Given the description of an element on the screen output the (x, y) to click on. 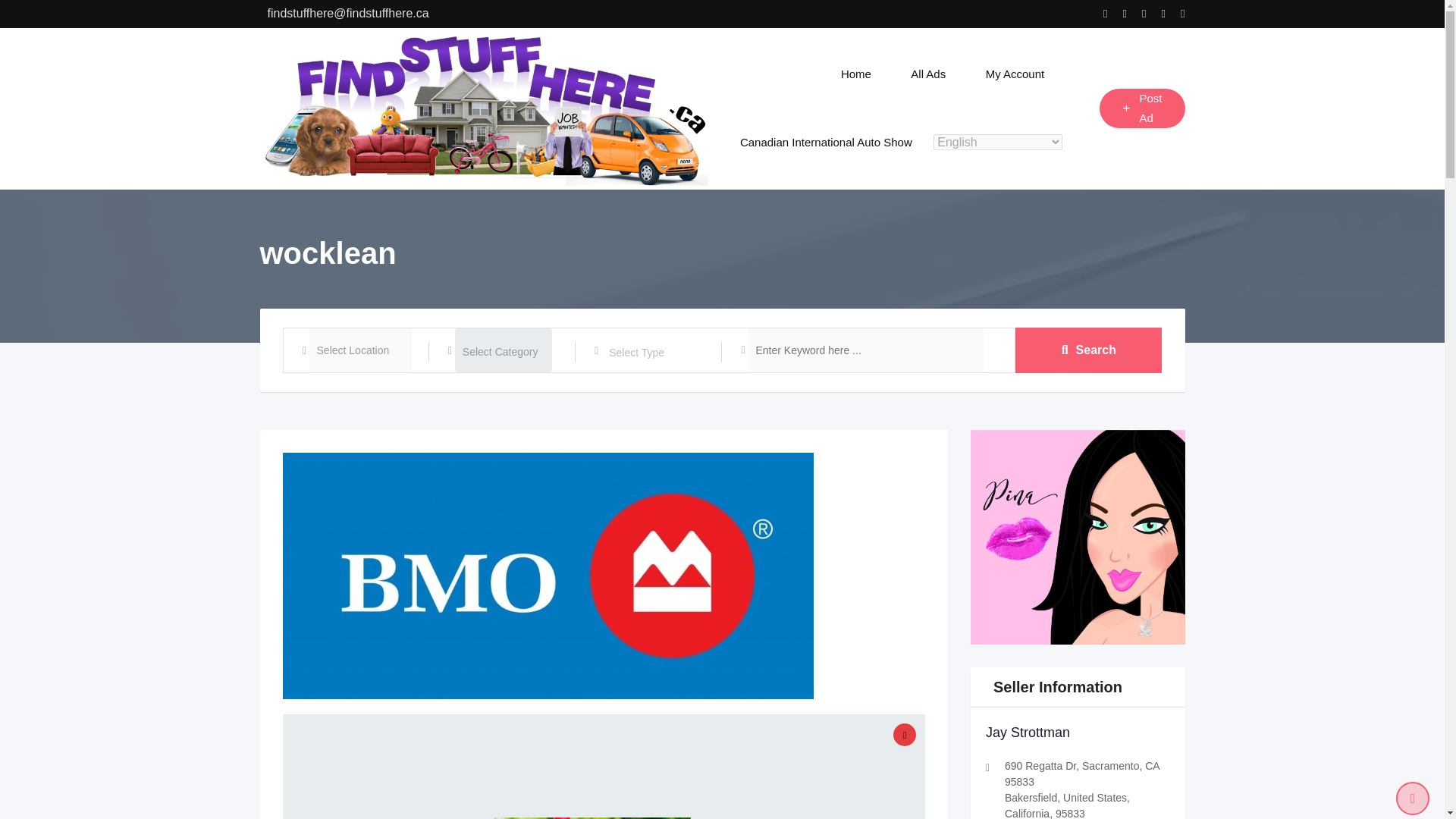
Canadian International Auto Show (826, 142)
All Ads (927, 74)
Search (1087, 350)
My Account (1015, 74)
Select Type (657, 352)
Post Ad (1142, 107)
Home (855, 74)
